Given the description of an element on the screen output the (x, y) to click on. 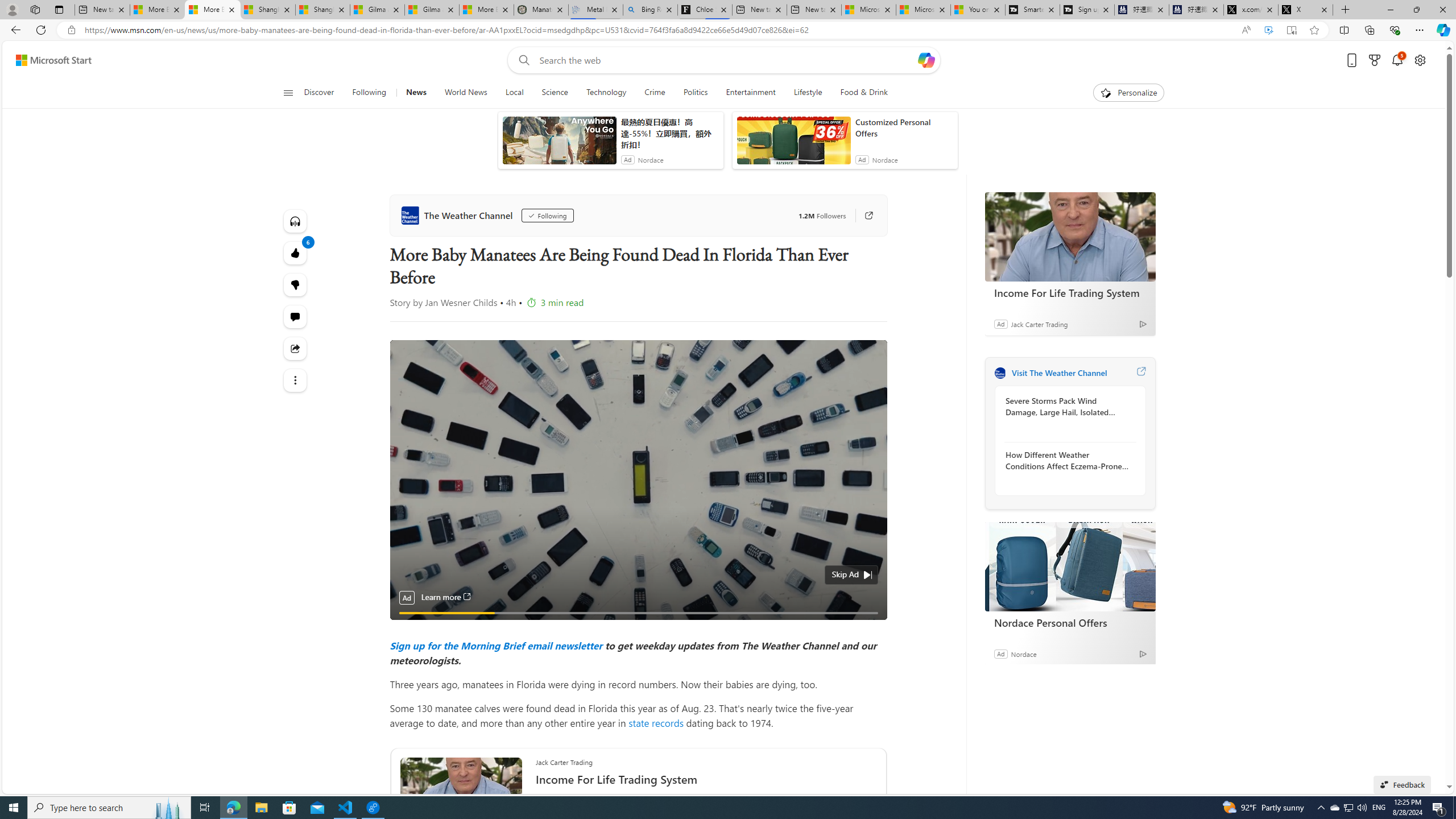
Skip Ad (845, 573)
Ad (999, 653)
Skip to footer (46, 59)
Technology (606, 92)
Income For Life Trading System (1070, 236)
Microsoft rewards (1374, 60)
The Weather Channel (458, 215)
6 Like (295, 252)
Following (370, 92)
Nordace Personal Offers (1070, 566)
state records (656, 721)
Shanghai, China weather forecast | Microsoft Weather (323, 9)
